Given the description of an element on the screen output the (x, y) to click on. 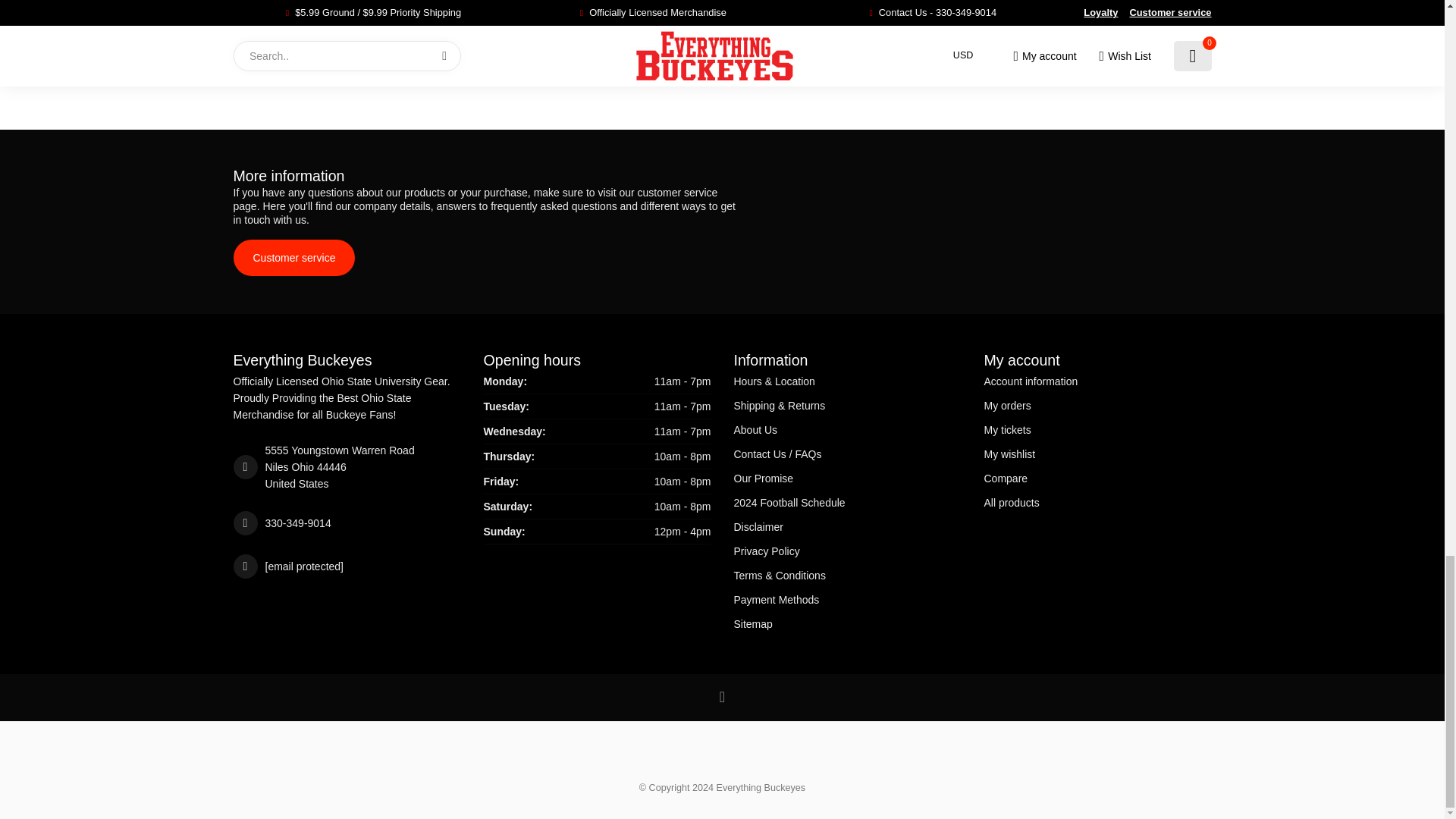
Our Promise (846, 478)
Disclaimer (846, 526)
Sitemap (846, 623)
My orders (1097, 405)
About Us (846, 429)
2024 Football Schedule (846, 502)
Payment Methods (846, 599)
Privacy Policy (846, 550)
Account information (1097, 381)
